Given the description of an element on the screen output the (x, y) to click on. 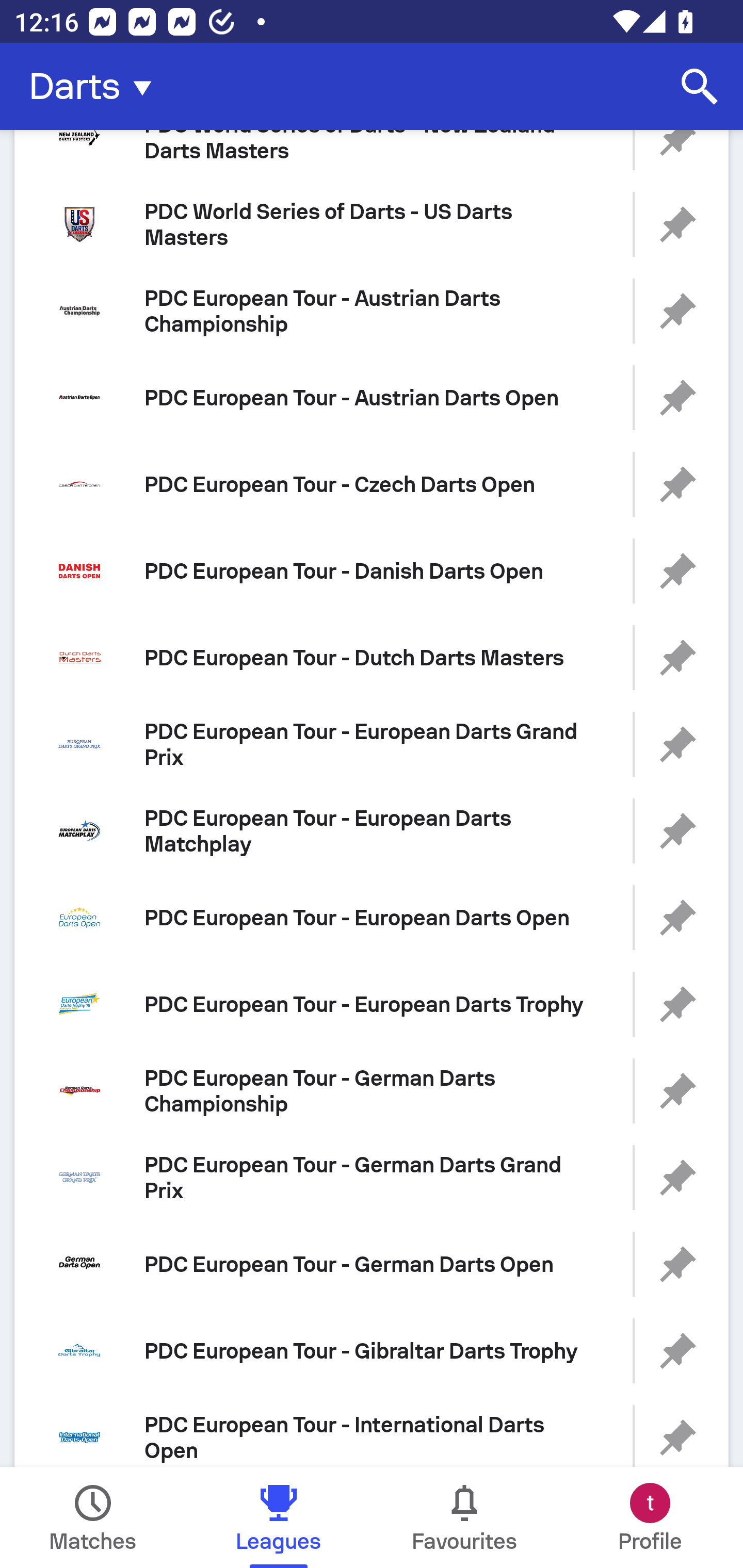
Darts (96, 86)
Search (699, 86)
PDC World Series of Darts - US Darts Masters (371, 224)
PDC European Tour - Austrian Darts Championship (371, 311)
PDC European Tour - Austrian Darts Open (371, 397)
PDC European Tour - Czech Darts Open (371, 484)
PDC European Tour - Danish Darts Open (371, 571)
PDC European Tour - Dutch Darts Masters (371, 657)
PDC European Tour - European Darts Grand Prix (371, 743)
PDC European Tour - European Darts Matchplay (371, 830)
PDC European Tour - European Darts Open (371, 917)
PDC European Tour - European Darts Trophy (371, 1004)
PDC European Tour - German Darts Championship (371, 1090)
PDC European Tour - German Darts Grand Prix (371, 1177)
PDC European Tour - German Darts Open (371, 1264)
PDC European Tour - Gibraltar Darts Trophy (371, 1350)
PDC European Tour - International Darts Open (371, 1430)
Matches (92, 1517)
Favourites (464, 1517)
Profile (650, 1517)
